Given the description of an element on the screen output the (x, y) to click on. 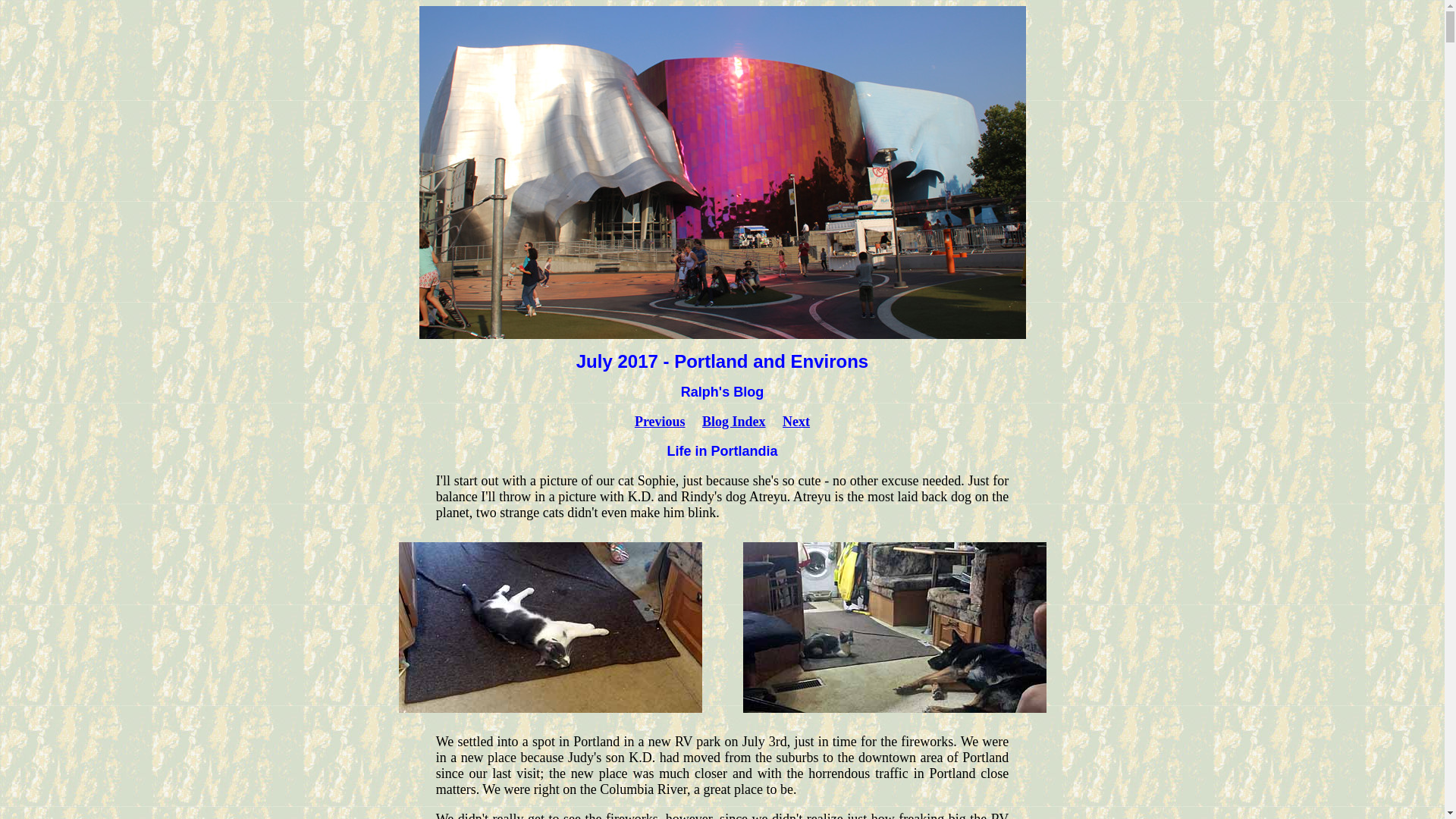
Next (796, 421)
Blog Index (733, 421)
Previous (659, 421)
